Given the description of an element on the screen output the (x, y) to click on. 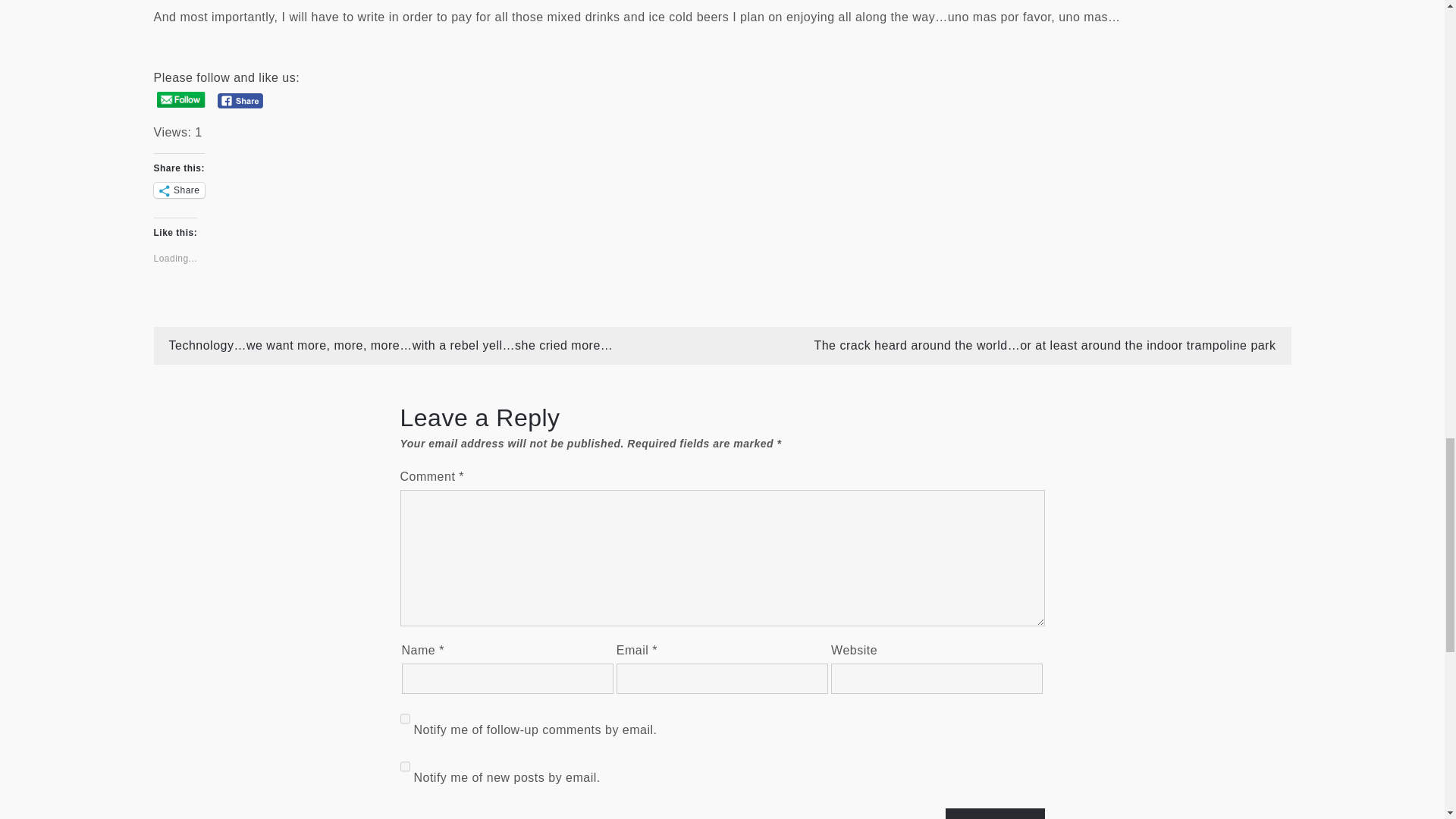
Post Comment (994, 813)
Share (177, 190)
Post Comment (994, 813)
Facebook Share (239, 100)
